Given the description of an element on the screen output the (x, y) to click on. 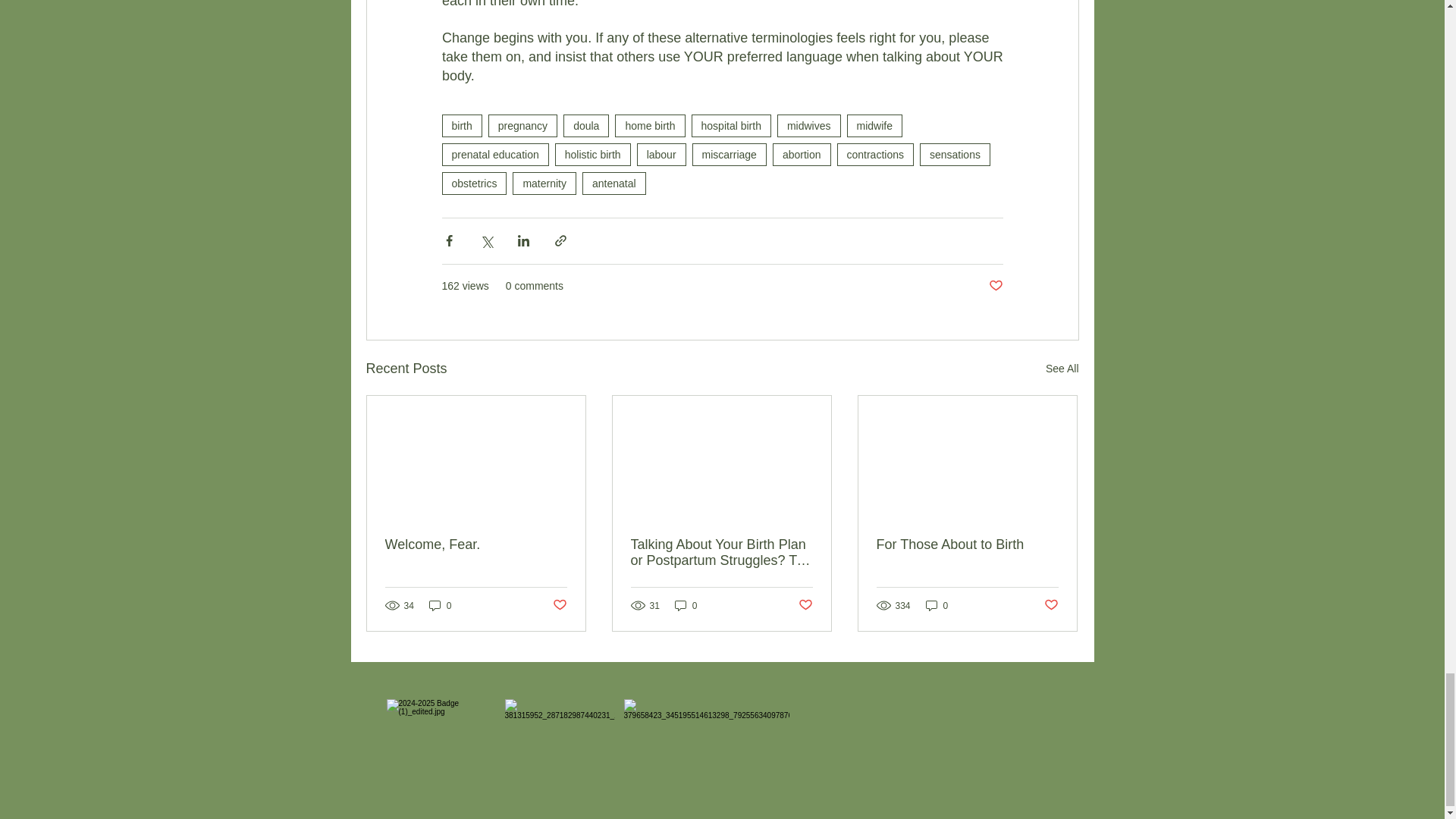
midwives (809, 125)
holistic birth (592, 154)
pregnancy (522, 125)
See All (1061, 368)
birth (461, 125)
antenatal (614, 182)
hospital birth (731, 125)
doula (585, 125)
contractions (875, 154)
Post not marked as liked (995, 286)
labour (661, 154)
sensations (955, 154)
abortion (802, 154)
maternity (544, 182)
home birth (649, 125)
